Given the description of an element on the screen output the (x, y) to click on. 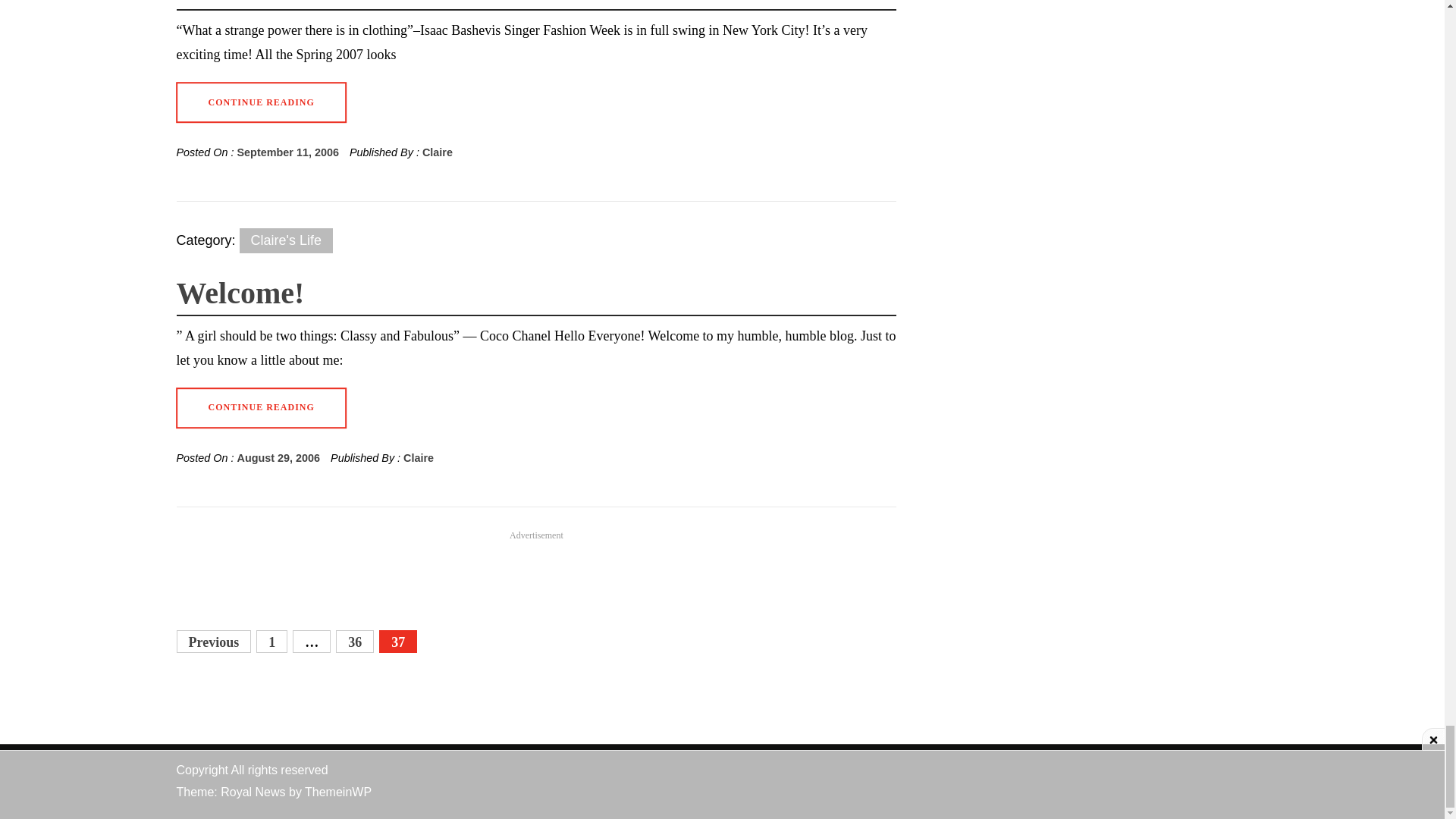
3rd party ad content (536, 574)
